Given the description of an element on the screen output the (x, y) to click on. 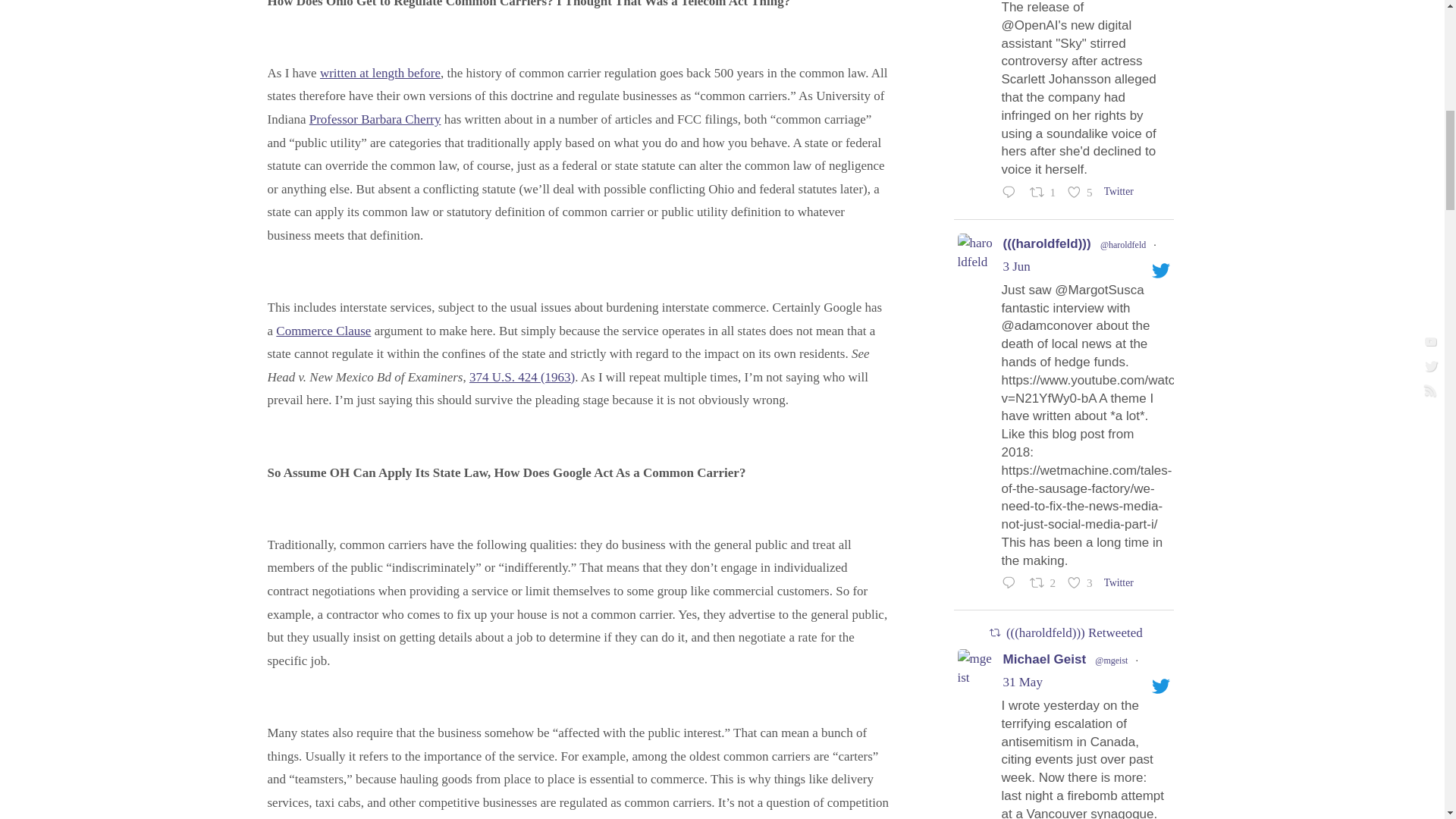
Commerce Clause (323, 330)
written at length before (380, 73)
Professor Barbara Cherry (374, 119)
